Given the description of an element on the screen output the (x, y) to click on. 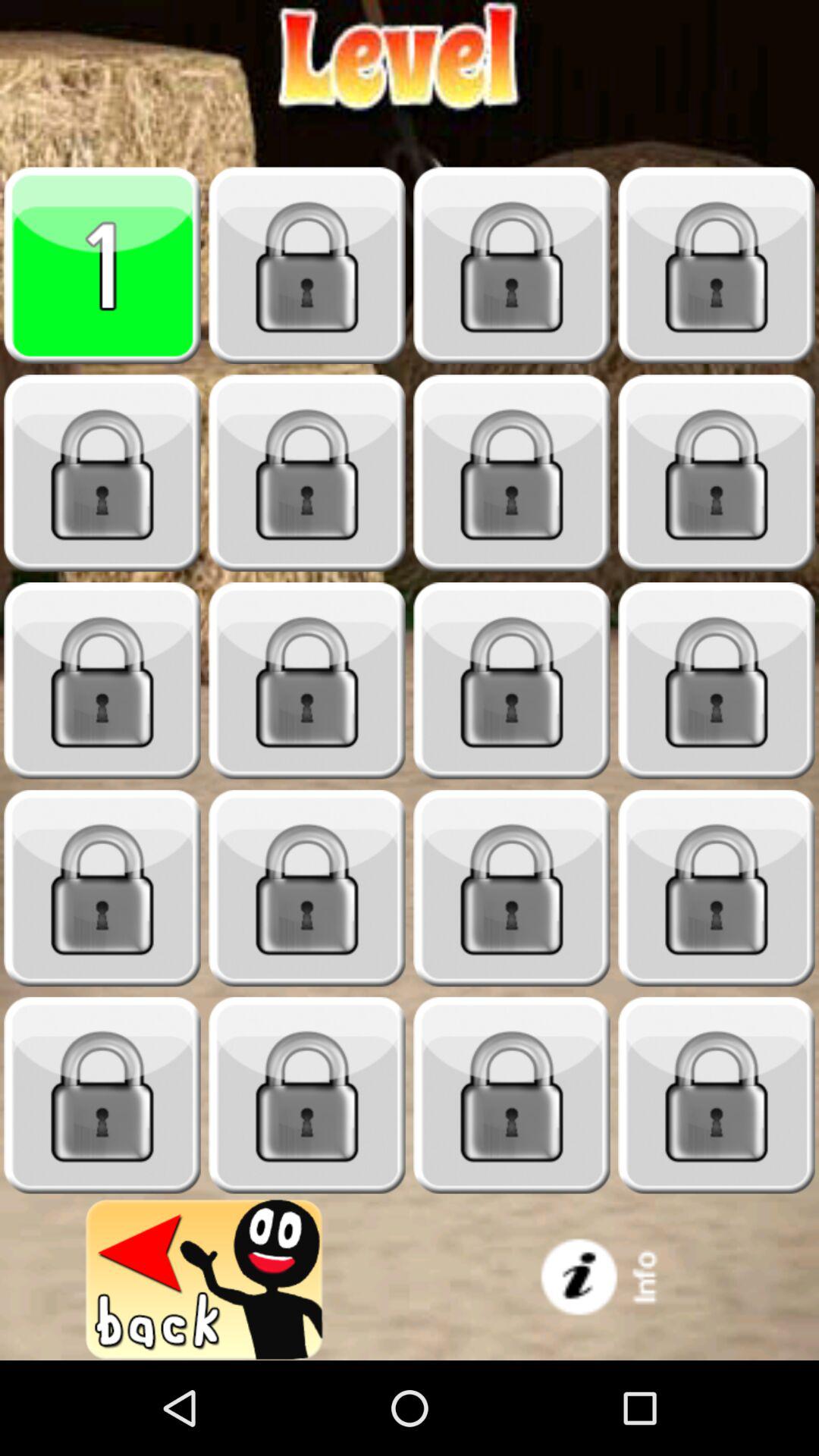
next level (306, 680)
